Given the description of an element on the screen output the (x, y) to click on. 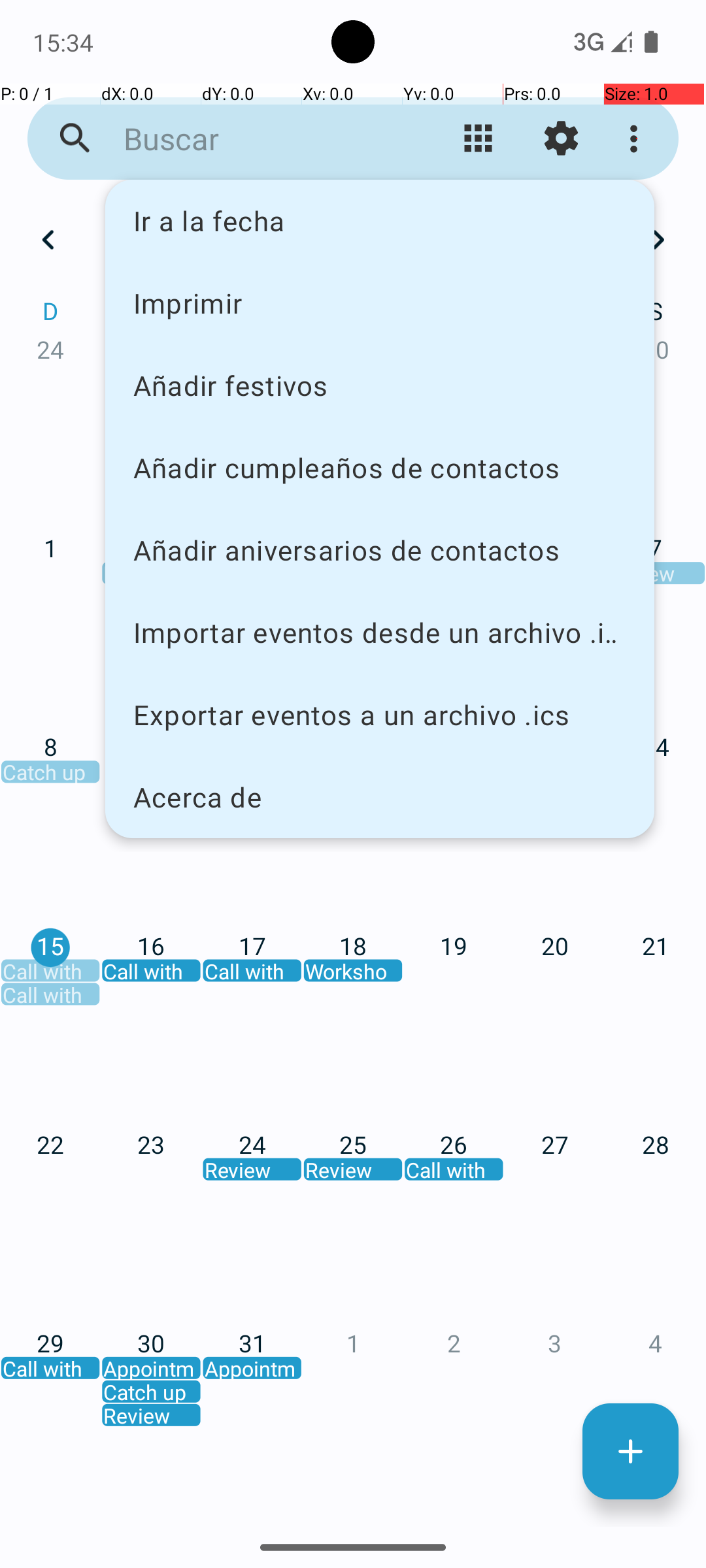
Ir a la fecha Element type: android.widget.TextView (379, 220)
Imprimir Element type: android.widget.TextView (379, 302)
Añadir festivos Element type: android.widget.TextView (379, 384)
Añadir cumpleaños de contactos Element type: android.widget.TextView (379, 467)
Añadir aniversarios de contactos Element type: android.widget.TextView (379, 549)
Importar eventos desde un archivo .ics Element type: android.widget.TextView (379, 631)
Exportar eventos a un archivo .ics Element type: android.widget.TextView (379, 714)
Acerca de Element type: android.widget.TextView (379, 796)
